Given the description of an element on the screen output the (x, y) to click on. 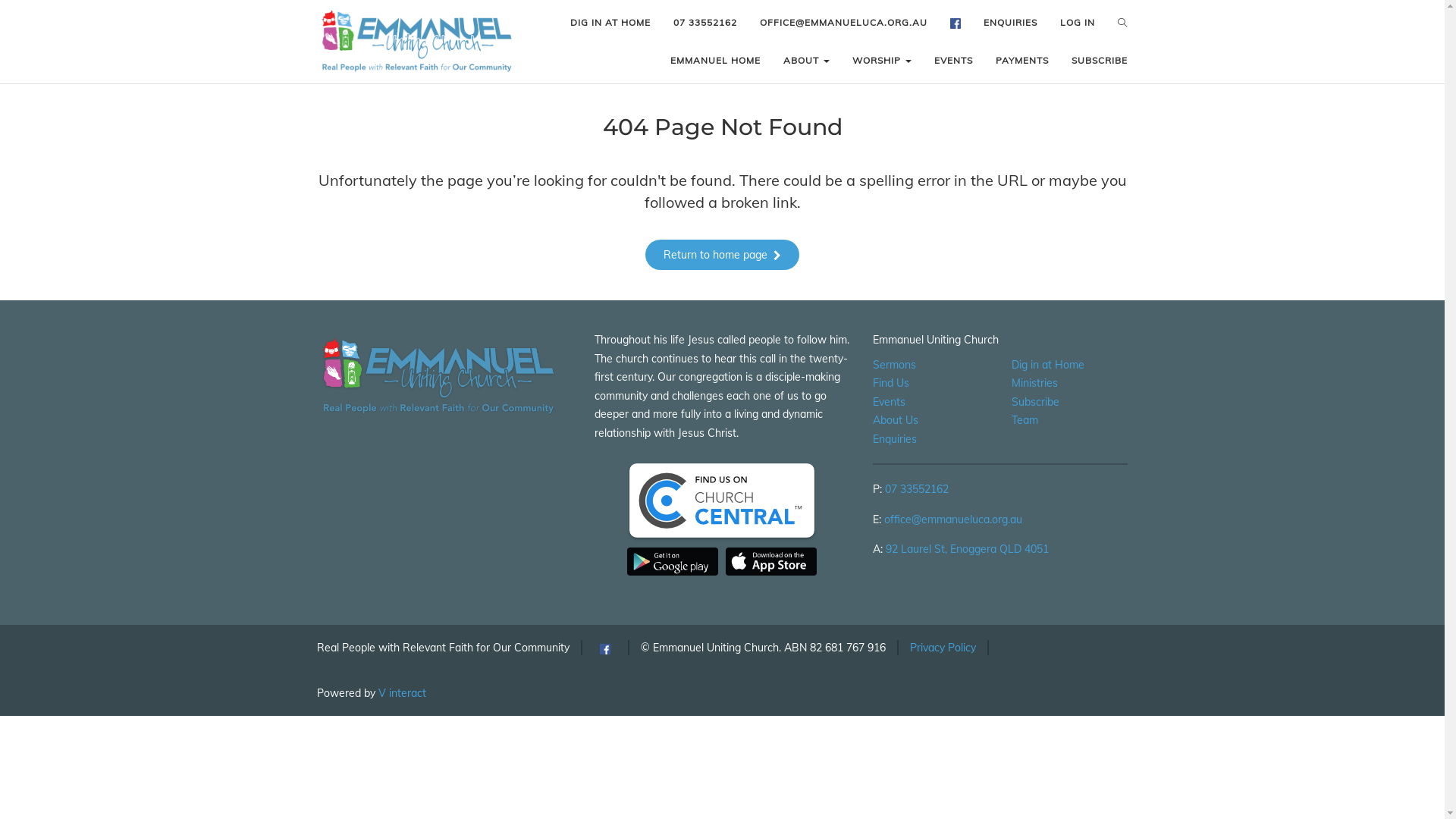
Privacy Policy Element type: text (942, 647)
SUBSCRIBE Element type: text (1099, 60)
Sermons Element type: text (894, 364)
Events Element type: text (888, 401)
ENQUIRIES Element type: text (1010, 22)
V interact Element type: text (401, 692)
ABOUT Element type: text (805, 60)
PAYMENTS Element type: text (1022, 60)
Ministries Element type: text (1034, 382)
Subscribe Element type: text (1035, 401)
07 33552162 Element type: text (916, 488)
07 33552162 Element type: text (705, 22)
office@emmanueluca.org.au Element type: text (953, 519)
DIG IN AT HOME Element type: text (610, 22)
OFFICE@EMMANUELUCA.ORG.AU Element type: text (843, 22)
Team Element type: text (1024, 419)
Dig in at Home Element type: text (1047, 364)
Find Us Element type: text (890, 382)
92 Laurel St, Enoggera QLD 4051 Element type: text (966, 548)
EVENTS Element type: text (953, 60)
Return to home page Element type: text (722, 254)
EMMANUEL HOME Element type: text (714, 60)
Enquiries Element type: text (894, 438)
LOG IN Element type: text (1077, 22)
WORSHIP Element type: text (881, 60)
About Us Element type: text (895, 419)
